Given the description of an element on the screen output the (x, y) to click on. 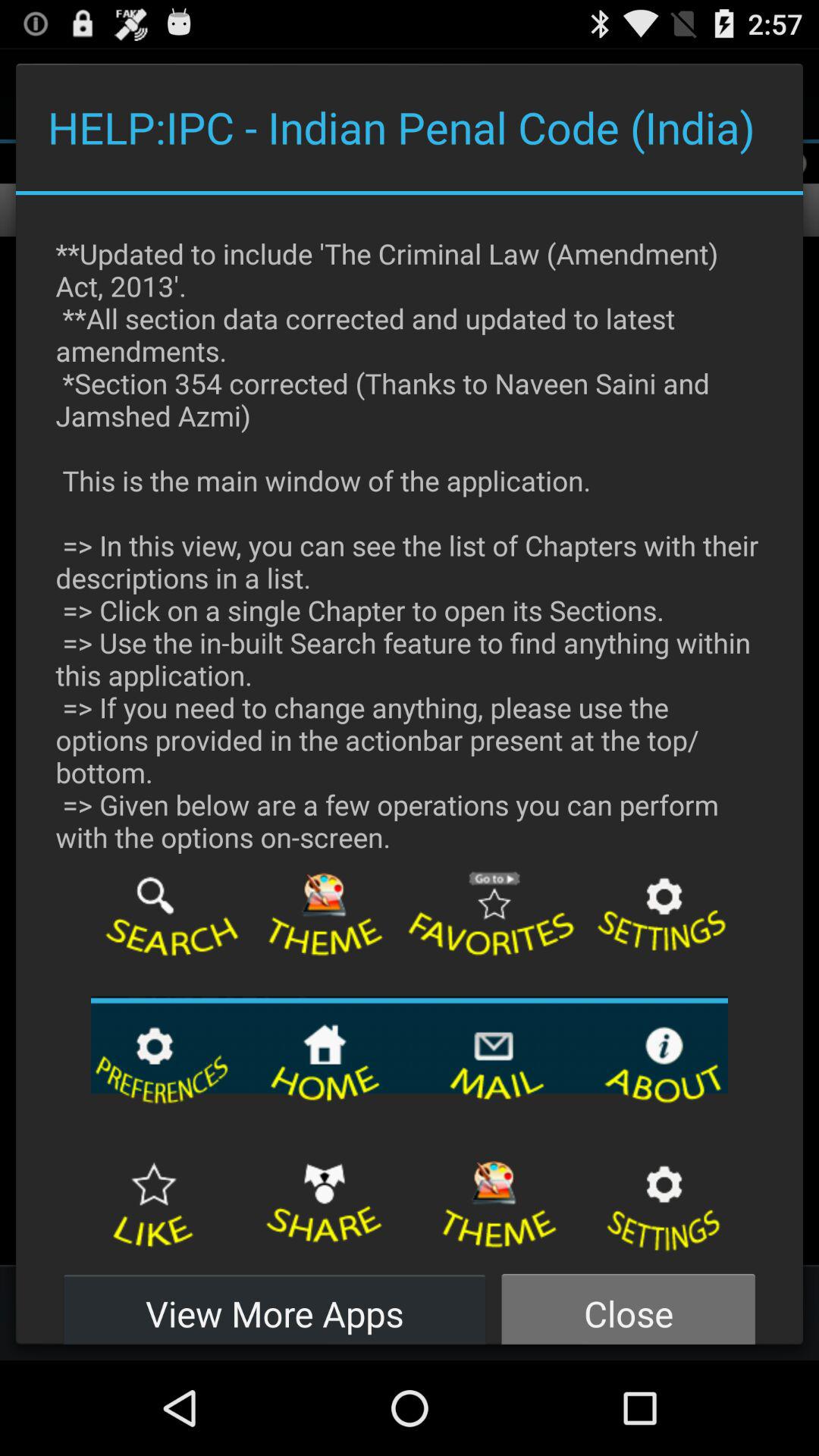
tap button to the right of view more apps button (628, 1305)
